Given the description of an element on the screen output the (x, y) to click on. 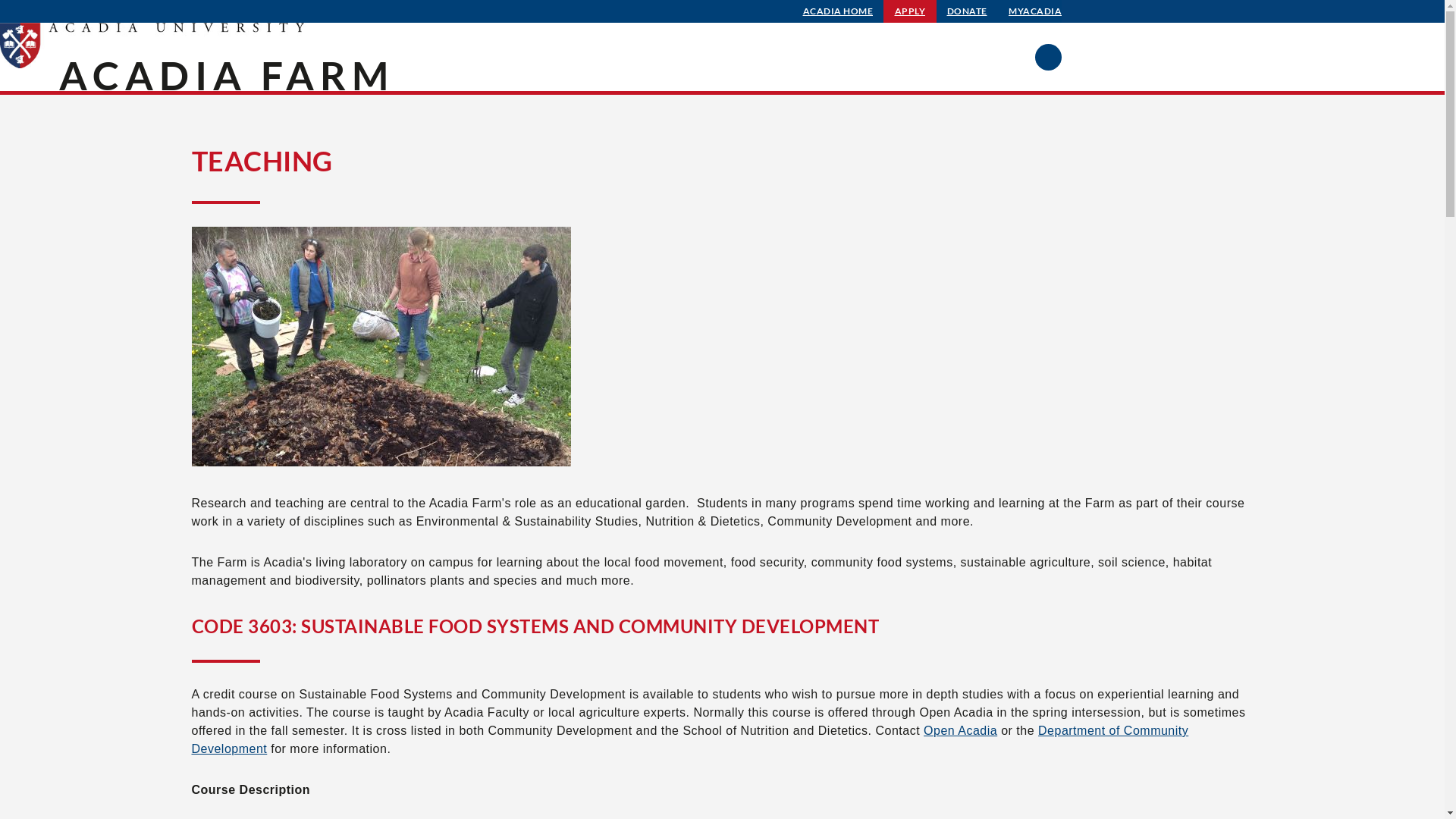
MYACADIA Element type: text (1035, 11)
ACADIA FARM Element type: text (226, 74)
APPLY Element type: text (909, 11)
ACADIA HOME Element type: text (837, 11)
Open Acadia Element type: text (960, 730)
Department of Community Development Element type: text (689, 739)
DONATE Element type: text (966, 11)
